Given the description of an element on the screen output the (x, y) to click on. 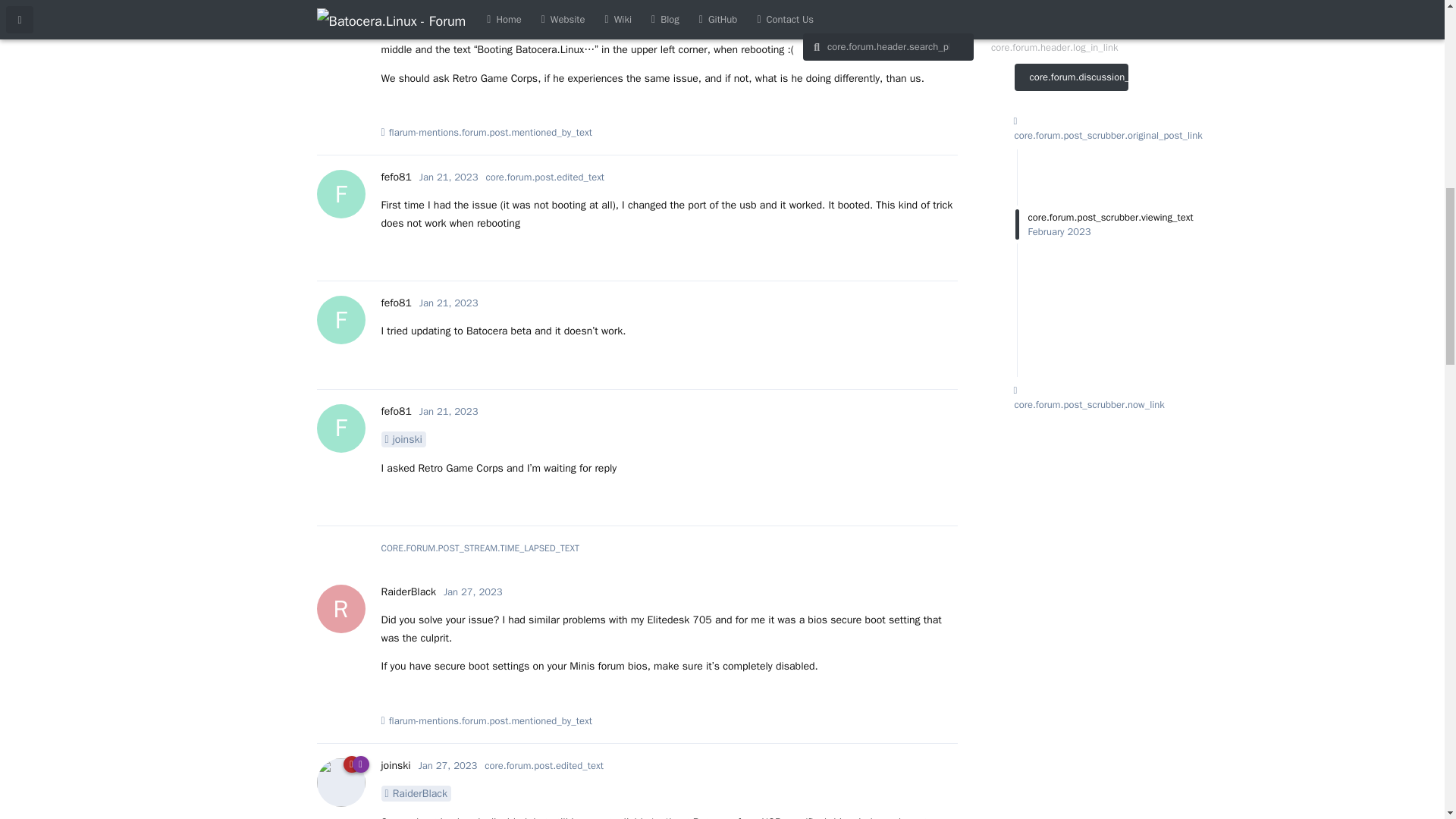
Jan 21, 2023 (449, 302)
Saturday, January 21, 2023 8:14 AM (449, 302)
Saturday, January 21, 2023 6:25 AM (395, 176)
Saturday, January 21, 2023 4:30 PM (449, 176)
fefo81 (449, 410)
Friday, January 27, 2023 4:26 PM (403, 5)
Jan 21, 2023 (395, 302)
